Given the description of an element on the screen output the (x, y) to click on. 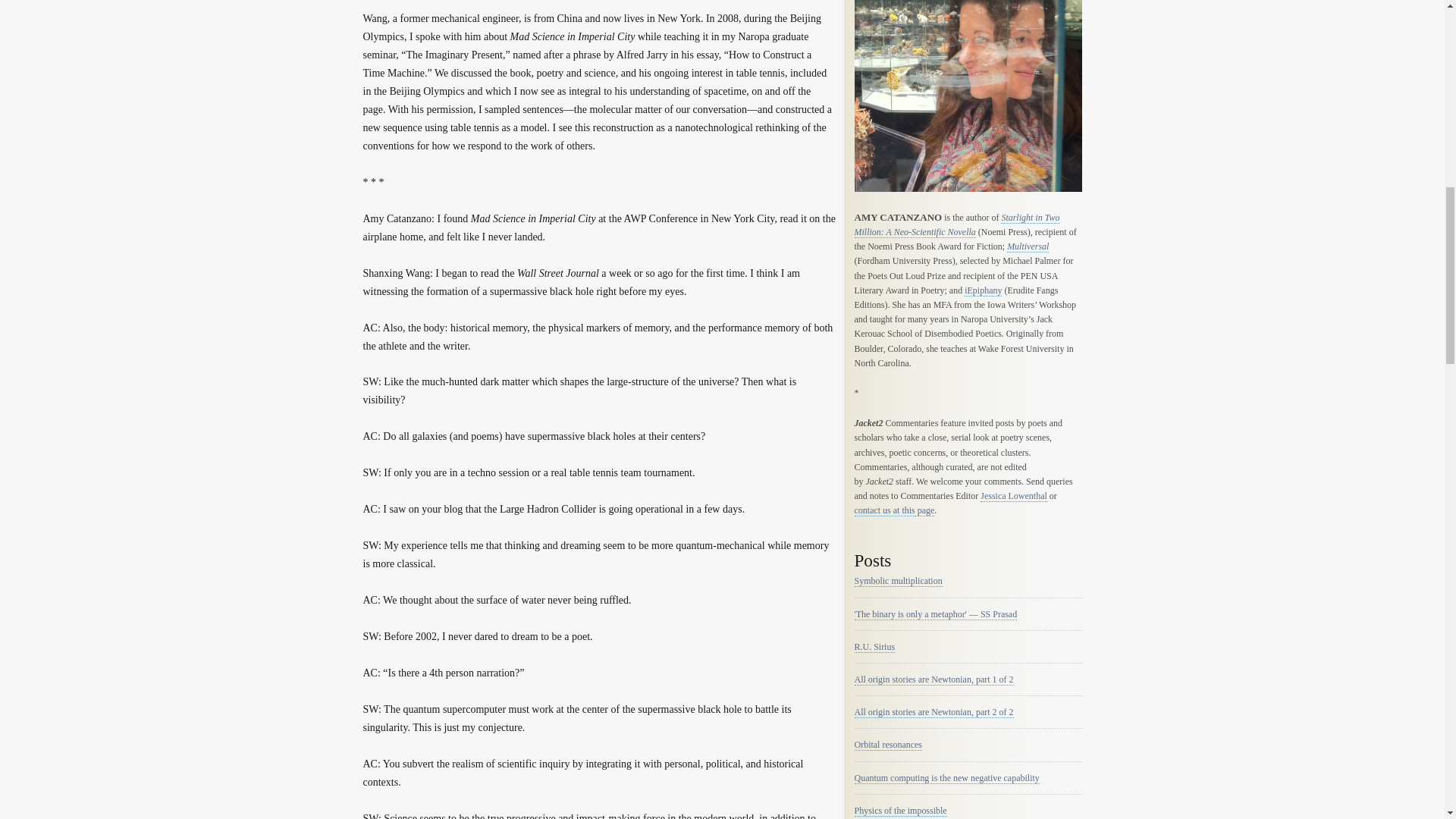
Orbital resonances (887, 745)
Symbolic multiplication (897, 581)
Jessica Lowenthal (1012, 496)
Physics of the impossible (899, 810)
Starlight in Two Million: A Neo-Scientific Novella (956, 225)
All origin stories are Newtonian, part 1 of 2 (933, 679)
Quantum computing is the new negative capability (946, 778)
Multiversal (1027, 246)
All origin stories are Newtonian, part 2 of 2 (933, 712)
 page (924, 510)
iEpiphany (982, 290)
contact us at this (883, 510)
Multiversal (1027, 246)
R.U. Sirius (874, 646)
iEpiphany (982, 290)
